Given the description of an element on the screen output the (x, y) to click on. 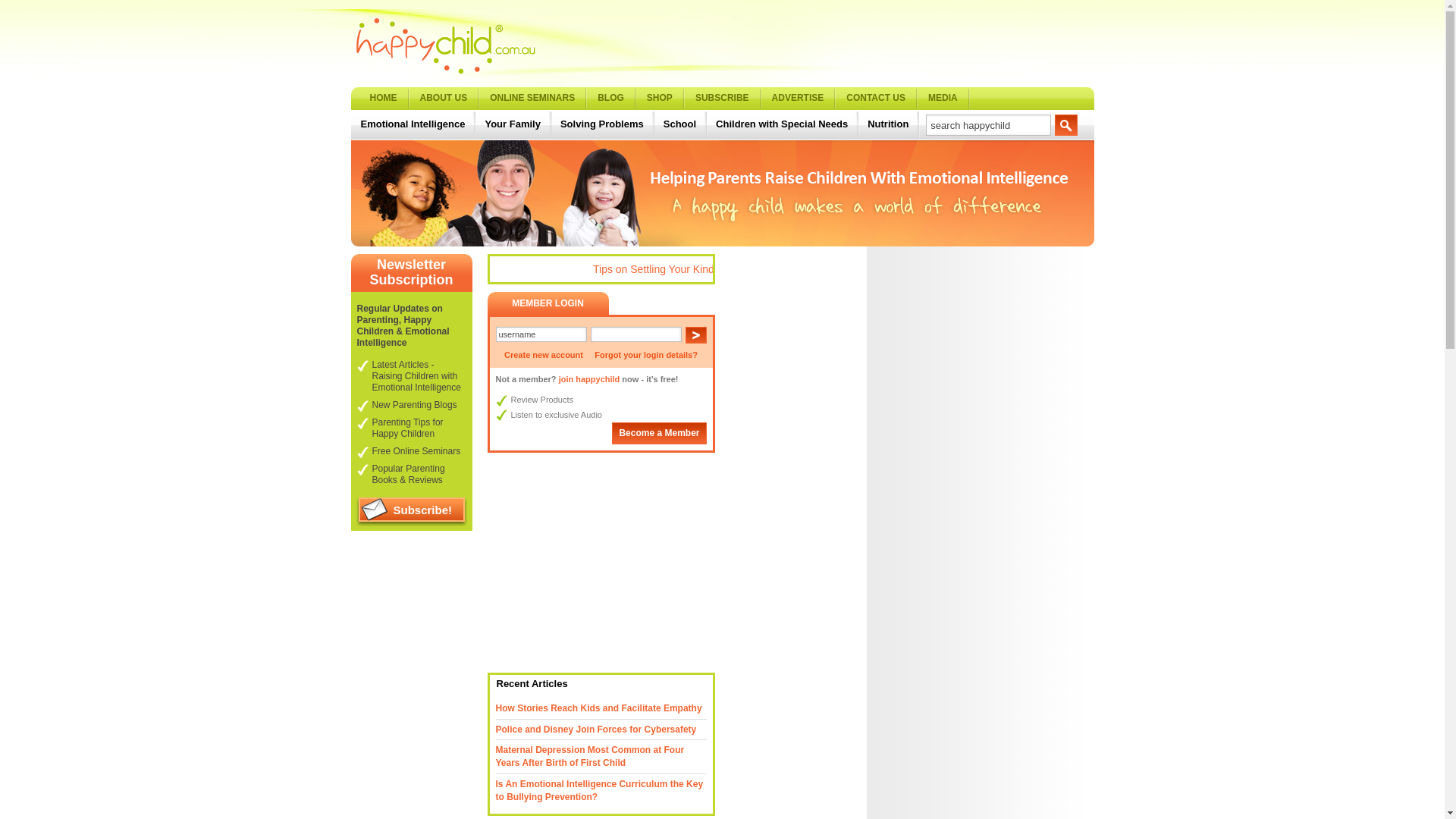
Solving Problems Element type: text (603, 124)
Children with Special Needs Element type: text (783, 124)
ONLINE SEMINARS Element type: text (532, 98)
SUBSCRIBE Element type: text (722, 98)
SHOP Element type: text (660, 98)
Emotional Intelligence Element type: text (413, 124)
School Element type: text (681, 124)
Nutrition Element type: text (889, 124)
HOME Element type: text (383, 98)
join happychild Element type: text (589, 378)
Your Family Element type: text (513, 124)
ADVERTISE Element type: text (798, 98)
Search Element type: text (1065, 124)
Create new account Element type: text (543, 354)
ABOUT US Element type: text (444, 98)
MEDIA Element type: text (943, 98)
Log in Element type: text (695, 334)
Recent Articles Element type: text (528, 683)
How Stories Reach Kids and Facilitate Empathy Element type: text (598, 707)
BLOG Element type: text (610, 98)
Become a Member Element type: text (658, 433)
Forgot your login details? Element type: text (645, 354)
Subscribe! Element type: text (410, 511)
Police and Disney Join Forces for Cybersafety Element type: text (595, 729)
CONTACT US Element type: text (875, 98)
